Given the description of an element on the screen output the (x, y) to click on. 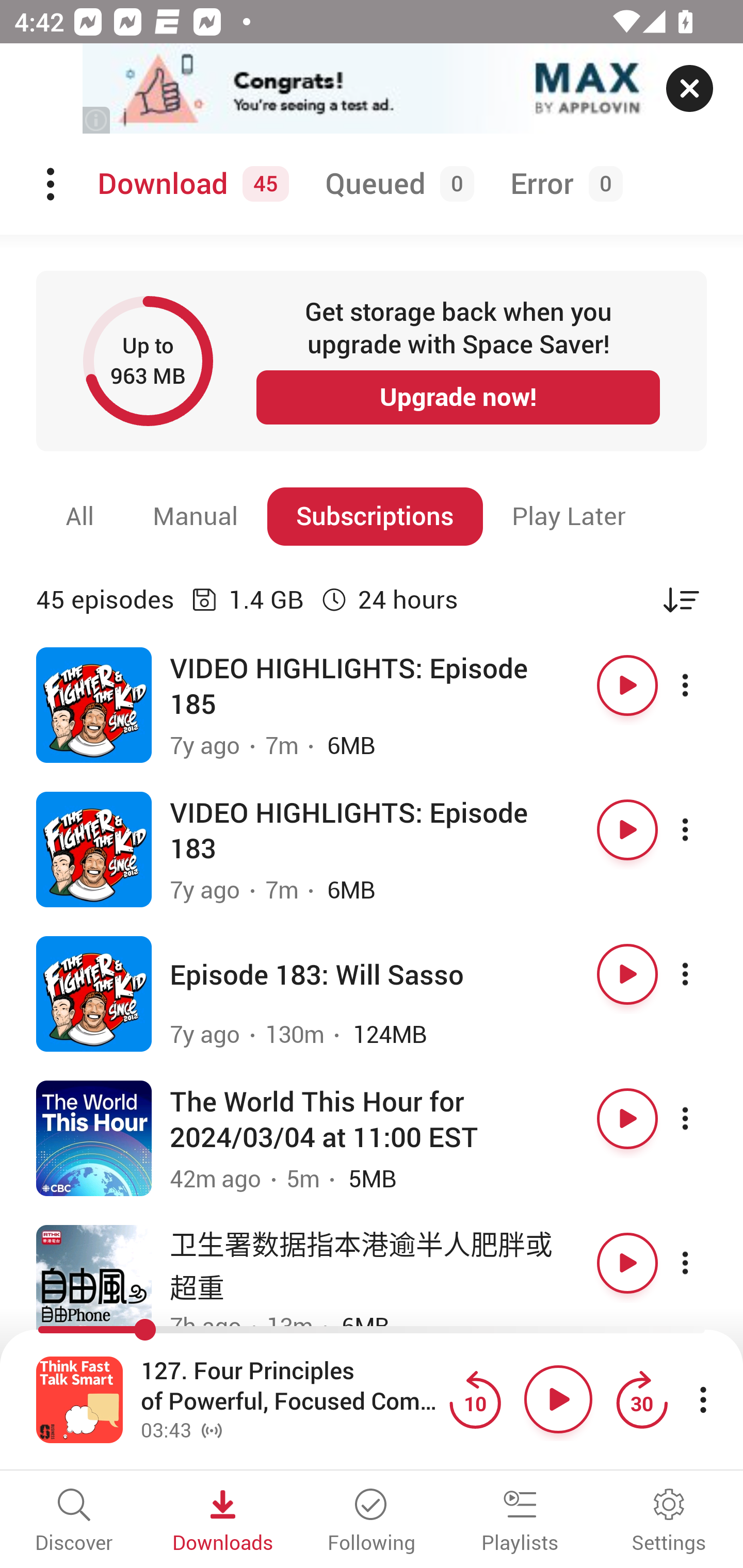
app-monetization (371, 88)
(i) (96, 119)
Menu (52, 184)
 Download 45 (189, 184)
 Queued 0 (396, 184)
 Error 0 (562, 184)
All (80, 516)
Manual (195, 516)
Subscriptions (374, 516)
Play Later (568, 516)
Change sort order (681, 599)
Play button (627, 685)
More options (703, 685)
Open series The Fighter & The Kid (93, 705)
Play button (627, 830)
More options (703, 830)
Open series The Fighter & The Kid (93, 849)
Play button (627, 974)
More options (703, 974)
Open series The Fighter & The Kid (93, 994)
Play button (627, 1118)
More options (703, 1118)
Open series The World This Hour (93, 1138)
Play button (627, 1263)
More options (703, 1263)
Open series 自由风自由PHONE (93, 1282)
Open fullscreen player (79, 1399)
More player controls (703, 1399)
Play button (558, 1398)
Jump back (475, 1399)
Jump forward (641, 1399)
Discover (74, 1521)
Downloads (222, 1521)
Following (371, 1521)
Playlists (519, 1521)
Settings (668, 1521)
